Given the description of an element on the screen output the (x, y) to click on. 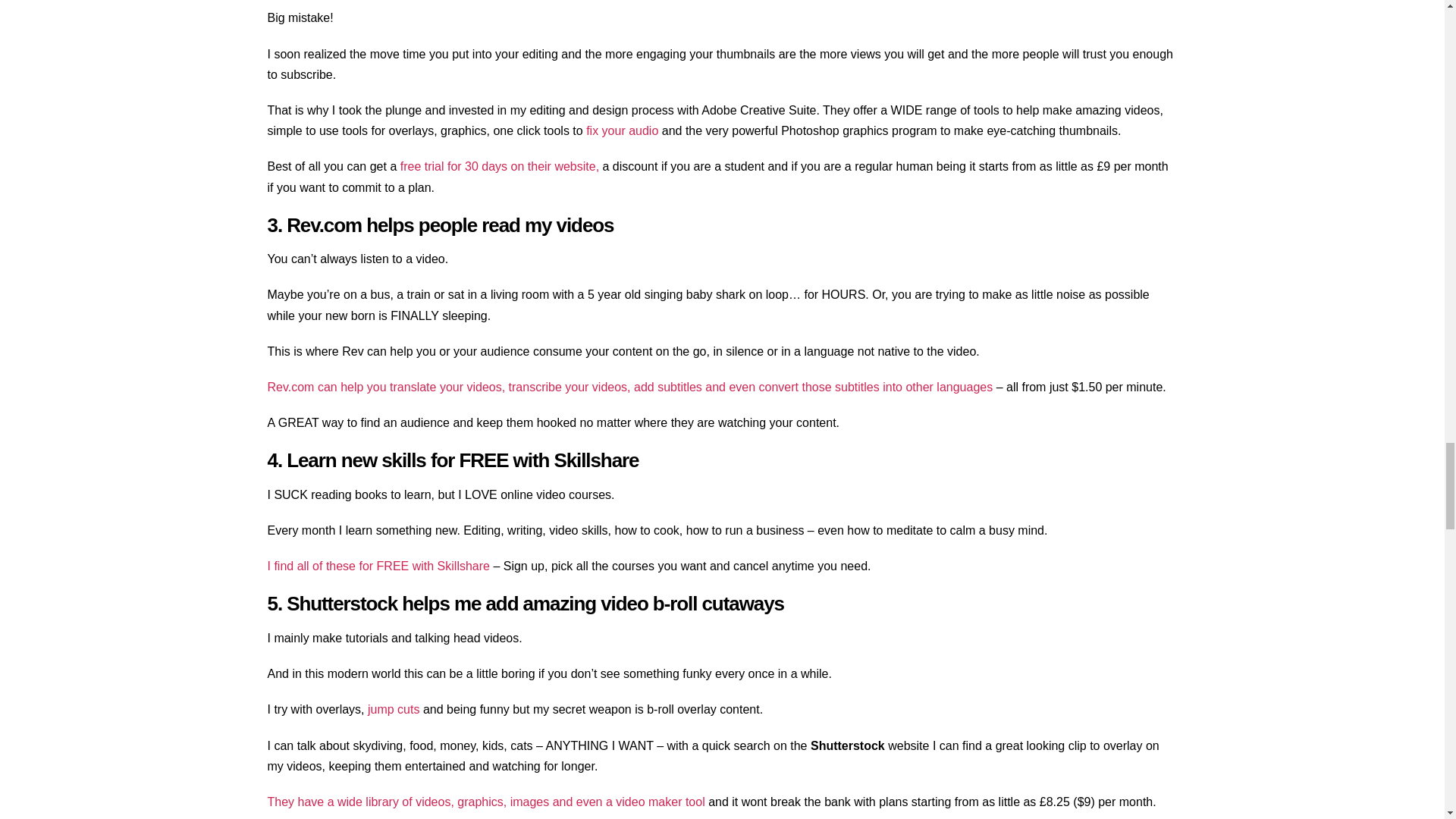
jump cuts (393, 708)
fix your audio (622, 130)
free trial for 30 days on their website, (499, 165)
I find all of these for FREE with Skillshare (377, 565)
